Given the description of an element on the screen output the (x, y) to click on. 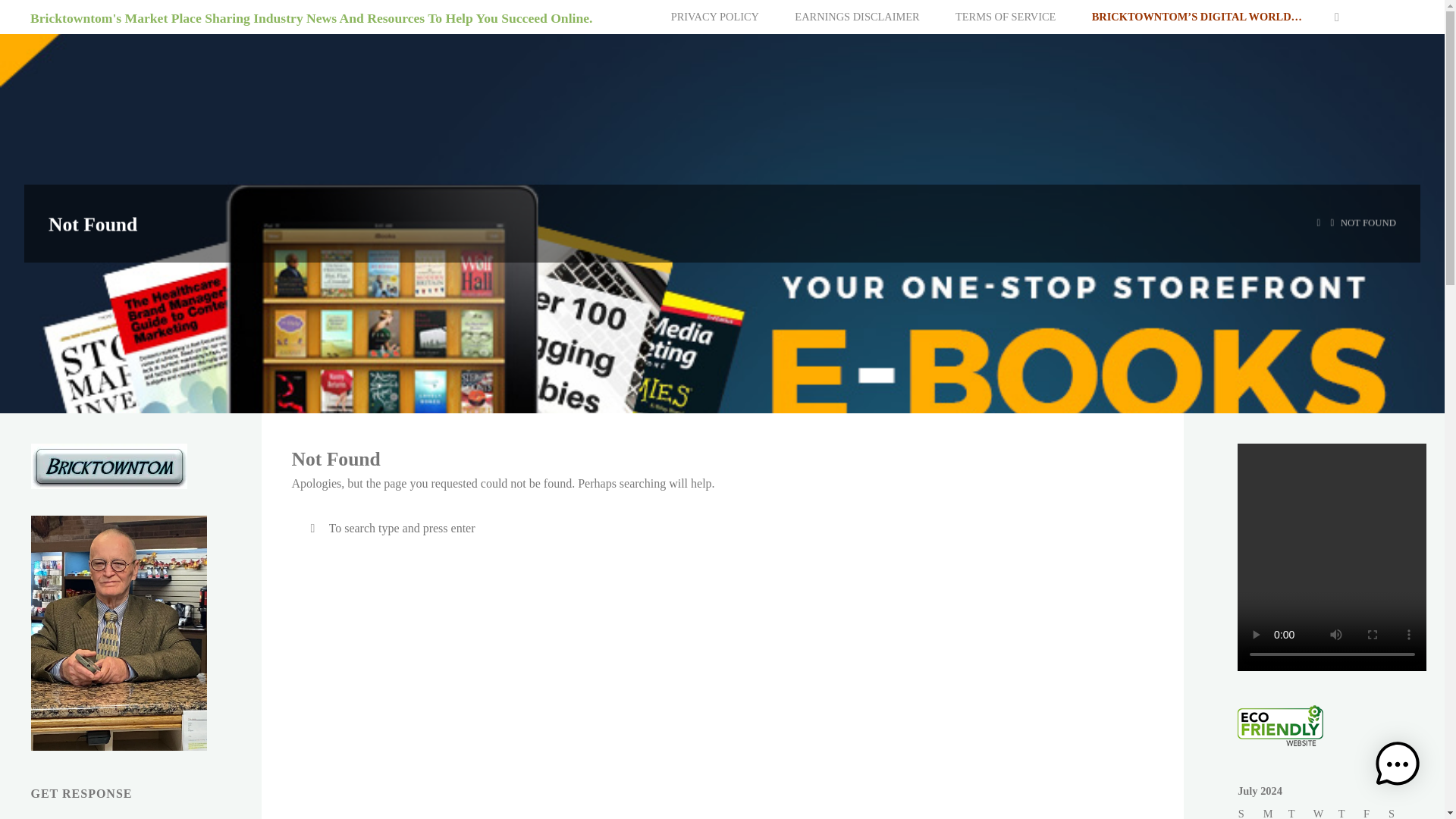
Tuesday (1300, 811)
Search (312, 527)
Saturday (1401, 811)
Sunday (1251, 811)
EARNINGS DISCLAIMER (856, 17)
TERMS OF SERVICE (1005, 17)
Home (1318, 222)
Friday (1375, 811)
Wednesday (1325, 811)
Monday (1275, 811)
PRIVACY POLICY (714, 17)
Thursday (1350, 811)
